Given the description of an element on the screen output the (x, y) to click on. 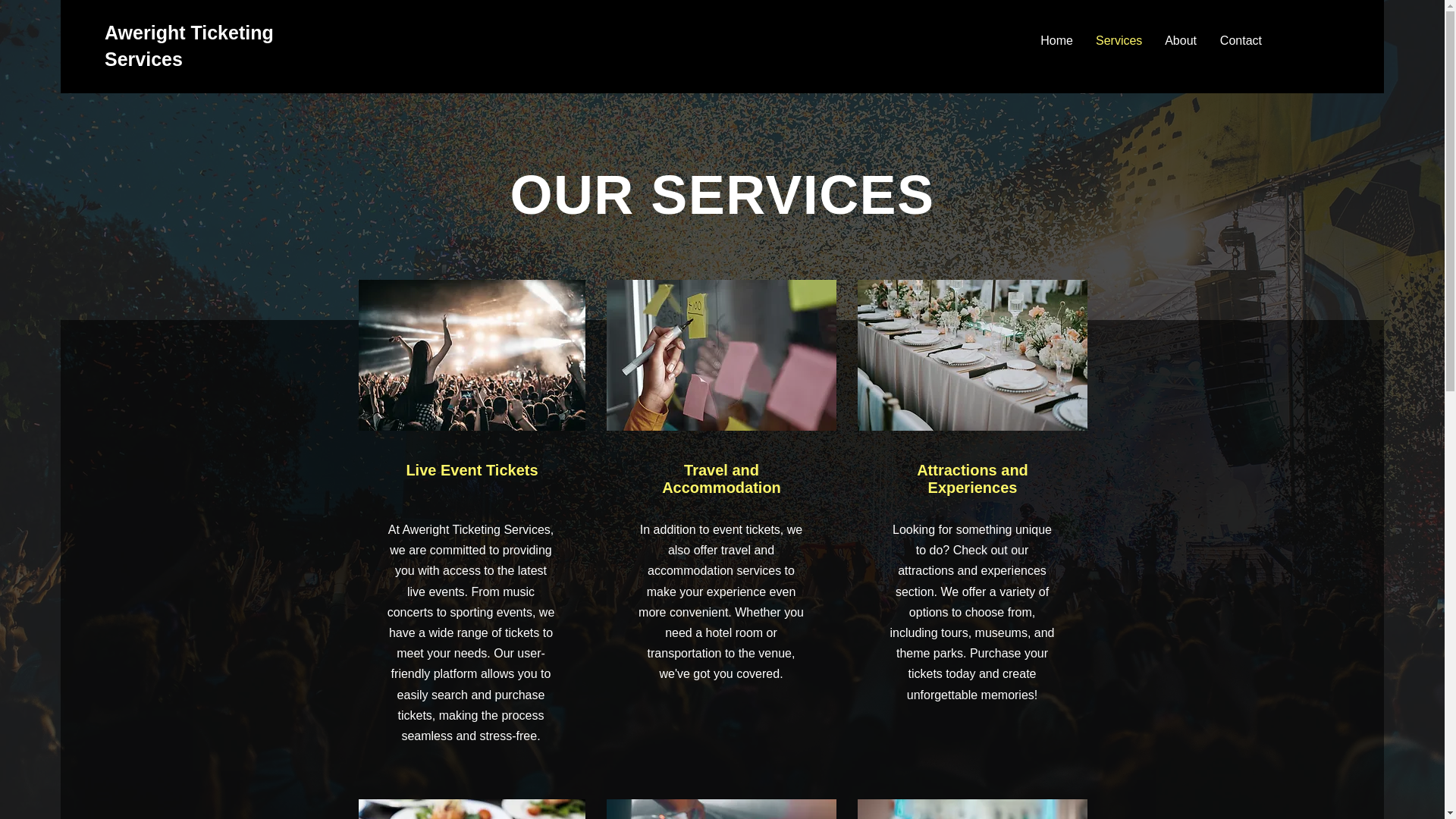
Contact (1240, 40)
About (1179, 40)
Home (1055, 40)
Services (1117, 40)
